Given the description of an element on the screen output the (x, y) to click on. 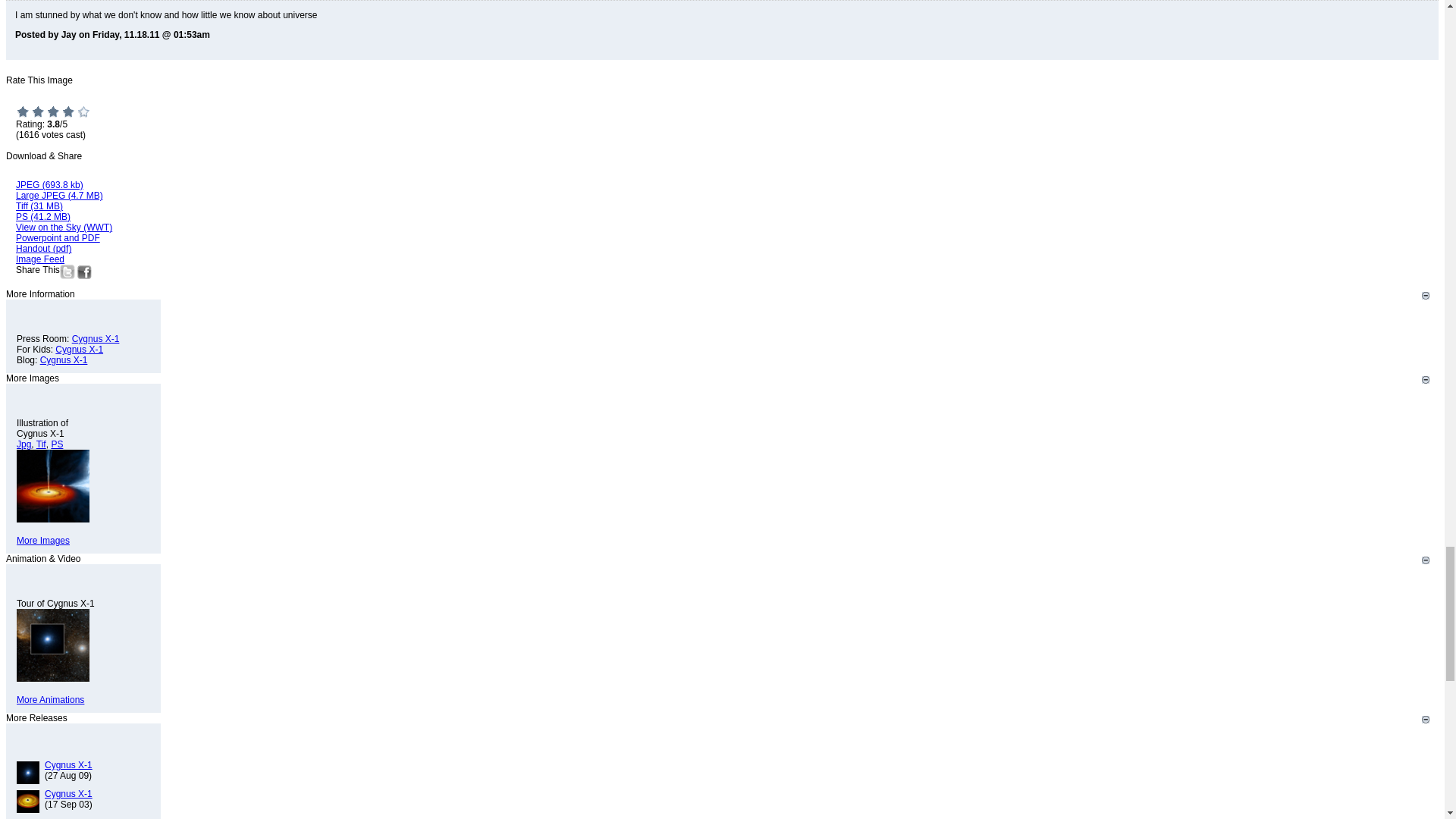
1 out of 5 (23, 111)
5 out of 5 (84, 111)
3 out of 5 (53, 111)
4 out of 5 (69, 111)
twitter share button (67, 271)
2 out of 5 (38, 111)
Click to share this post on Twitter (67, 276)
facebook share button (84, 272)
